Given the description of an element on the screen output the (x, y) to click on. 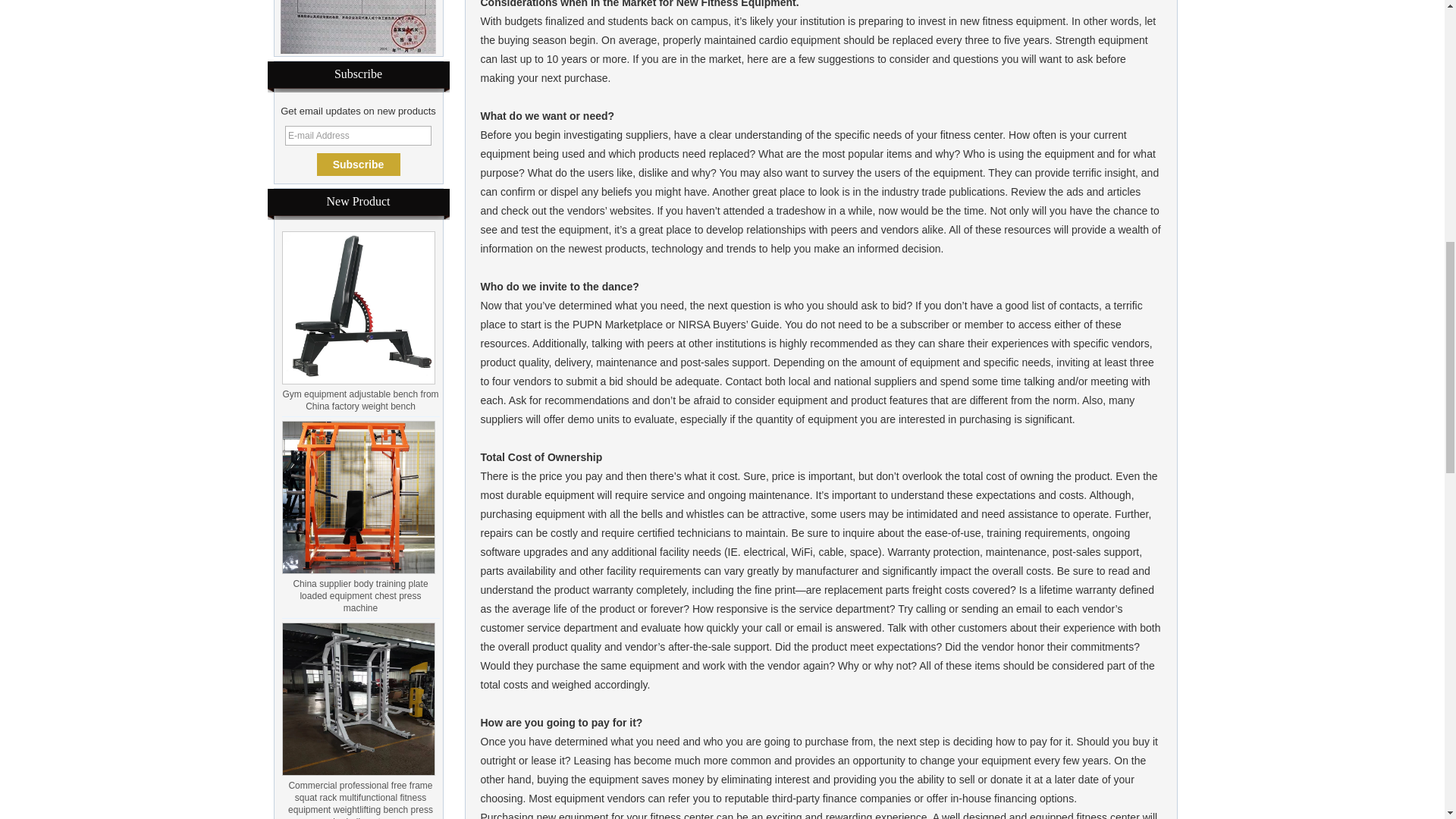
7441654 (358, 27)
Subscribe (358, 164)
E-mail Address (357, 135)
